Given the description of an element on the screen output the (x, y) to click on. 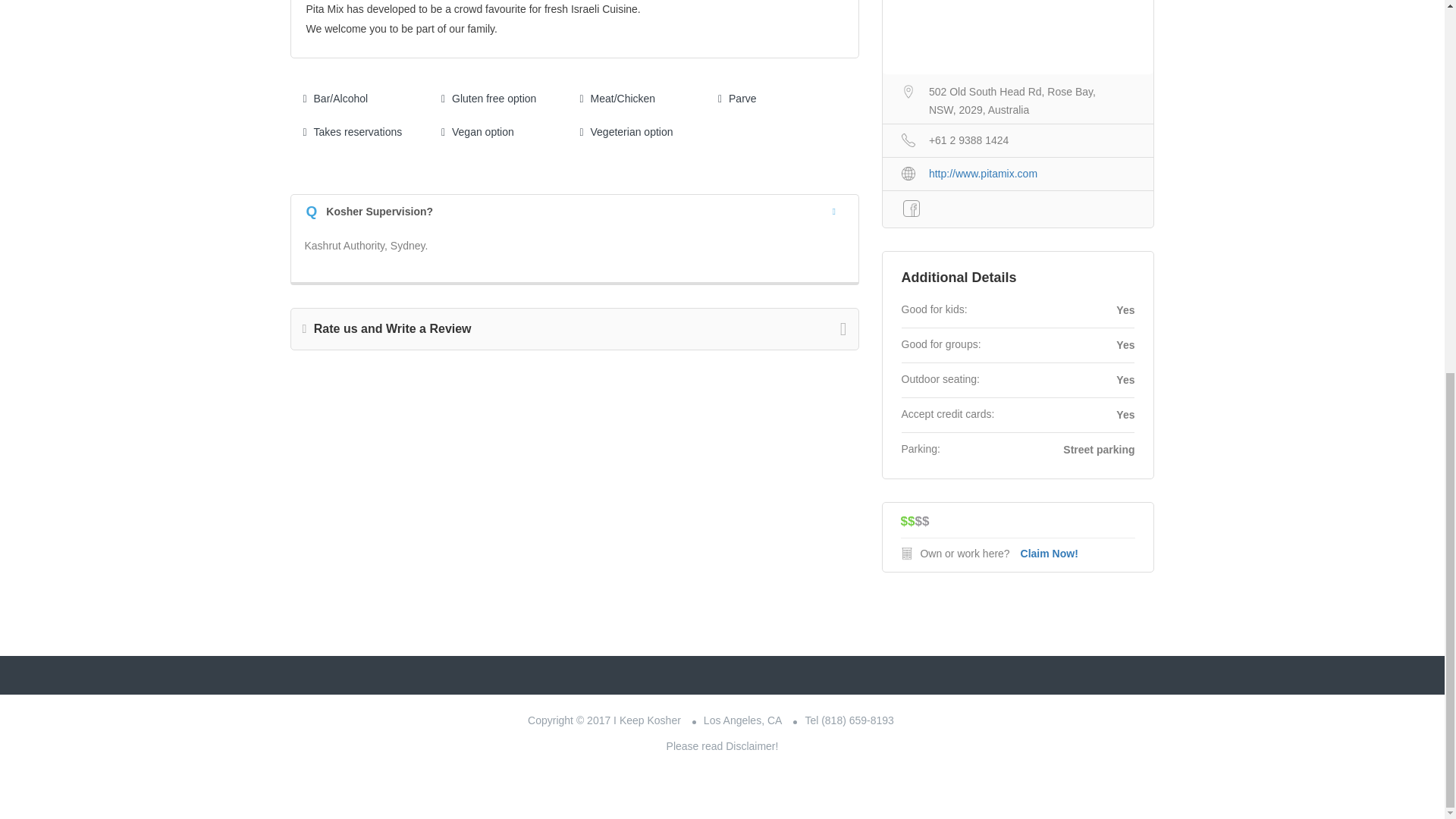
Parve (737, 98)
Gluten free option (488, 98)
